Given the description of an element on the screen output the (x, y) to click on. 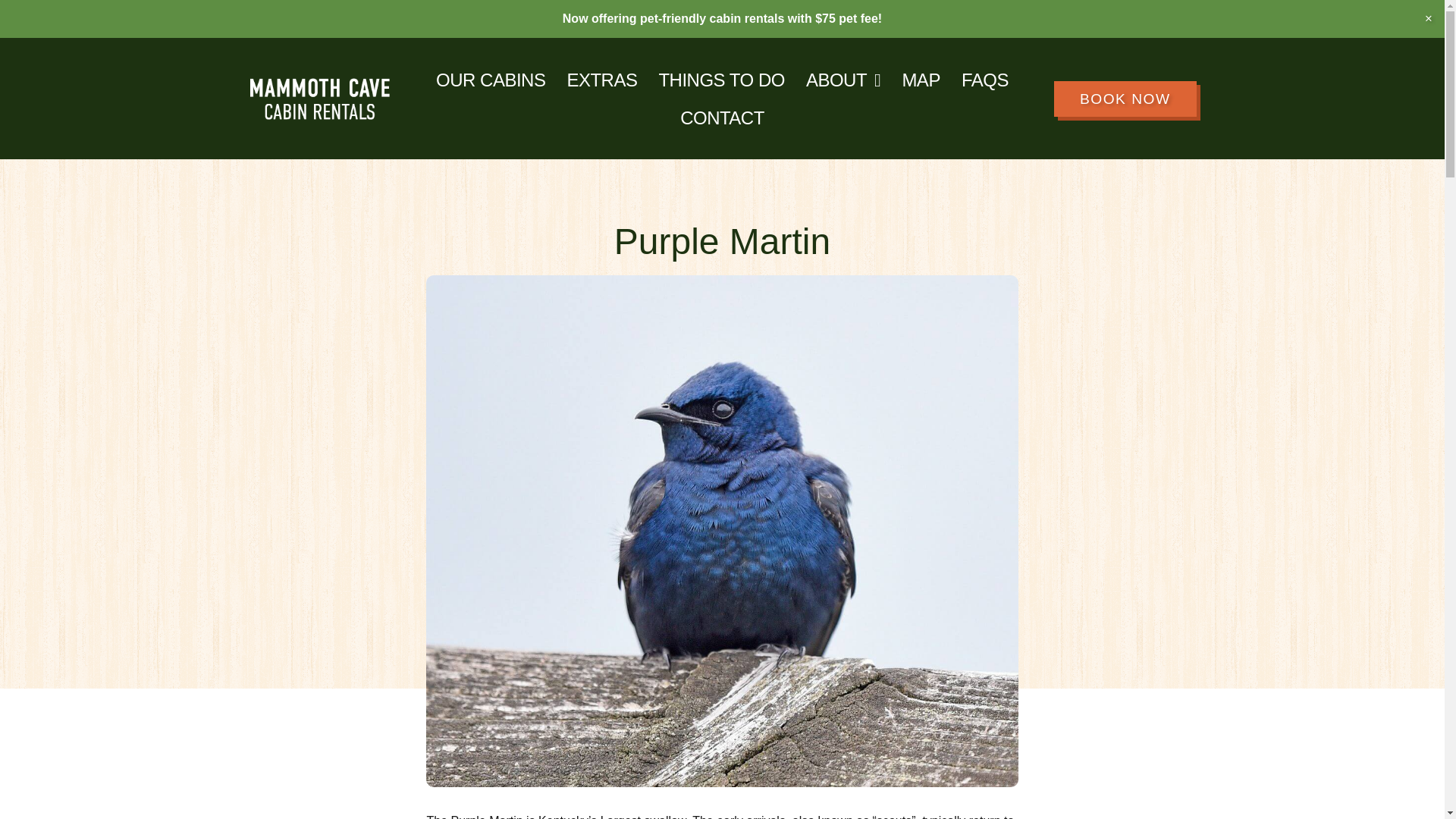
THINGS TO DO (720, 79)
ABOUT (842, 79)
FAQS (984, 79)
EXTRAS (601, 79)
BOOK NOW (1125, 99)
MAP (920, 79)
CONTACT (721, 117)
OUR CABINS (490, 79)
